Given the description of an element on the screen output the (x, y) to click on. 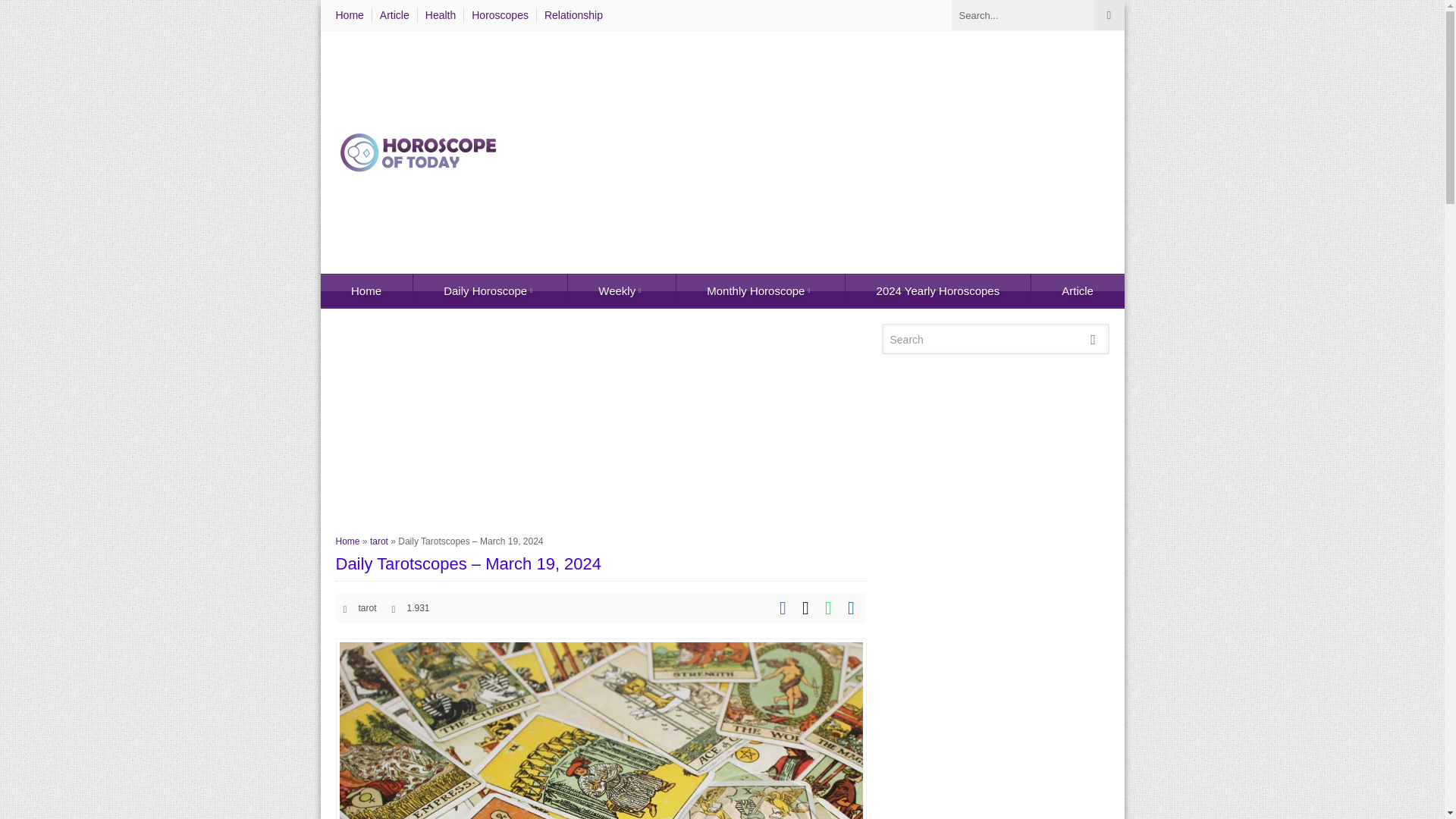
HoroscopeOfToday (418, 152)
tarot (366, 607)
Share on Linkedin (851, 608)
Share on Facebook (783, 608)
Monthly Horoscope (759, 290)
2024 Yearly Horoscopes (937, 290)
Share on Whatsapp (828, 608)
Horoscopes (499, 14)
Advertisement (600, 429)
Weekly (621, 290)
